Given the description of an element on the screen output the (x, y) to click on. 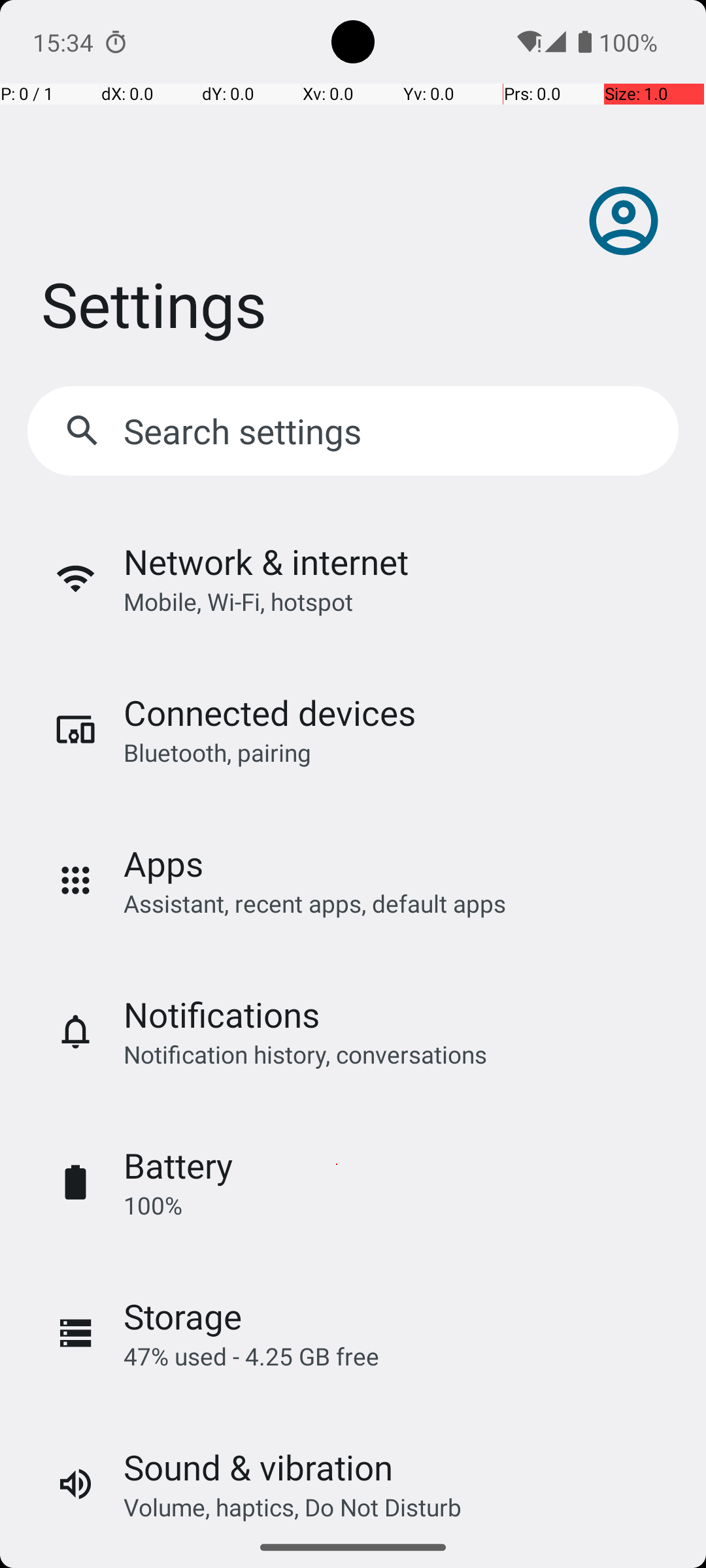
47% used - 4.25 GB free Element type: android.widget.TextView (251, 1355)
